Given the description of an element on the screen output the (x, y) to click on. 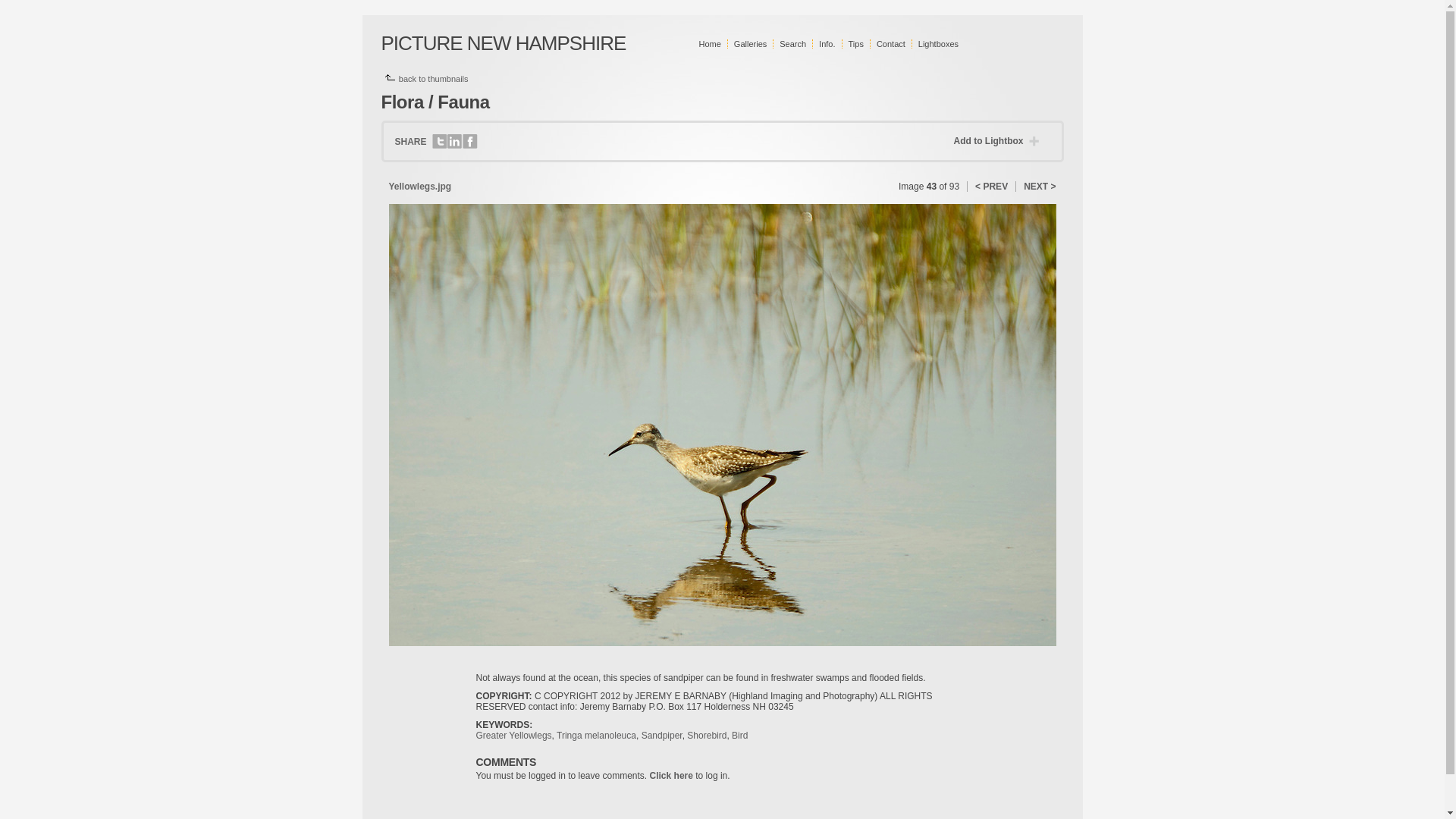
Add to Lightbox (999, 141)
PICTURE NEW HAMPSHIRE (503, 42)
Search (792, 43)
Shorebird (706, 735)
Lightboxes (937, 43)
Galleries (750, 43)
Contact (890, 43)
Info. (826, 43)
Click here (671, 775)
Bird (740, 735)
